Given the description of an element on the screen output the (x, y) to click on. 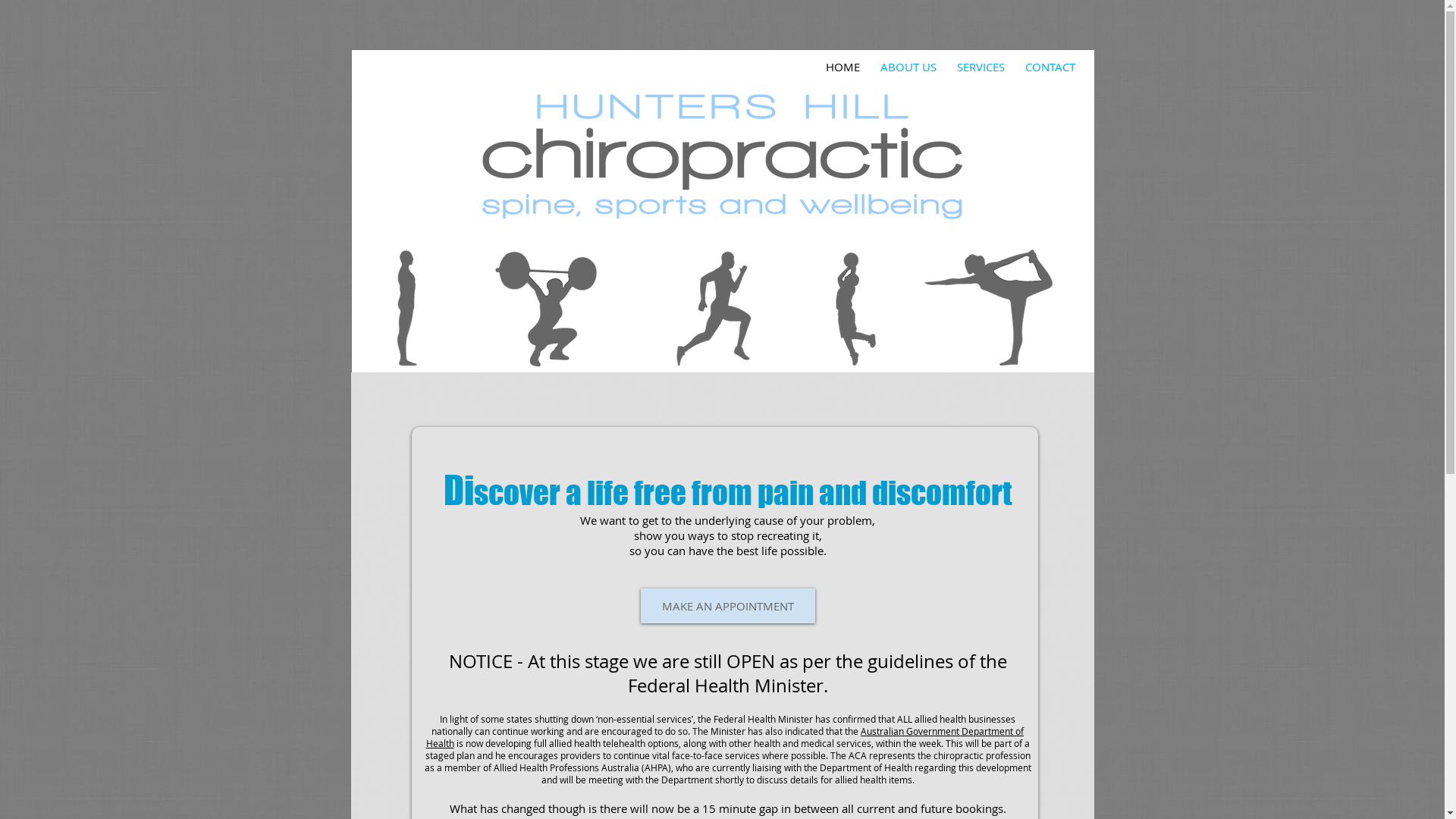
Hunters Hill Chiropractic Element type: hover (722, 153)
MAKE AN APPOINTMENT Element type: text (727, 605)
CONTACT Element type: text (1049, 67)
ABOUT US Element type: text (908, 67)
Australian Government Department of Health Element type: text (725, 736)
HOME Element type: text (842, 67)
SERVICES Element type: text (979, 67)
Hunters Hill Chiropractor Element type: hover (723, 307)
